Given the description of an element on the screen output the (x, y) to click on. 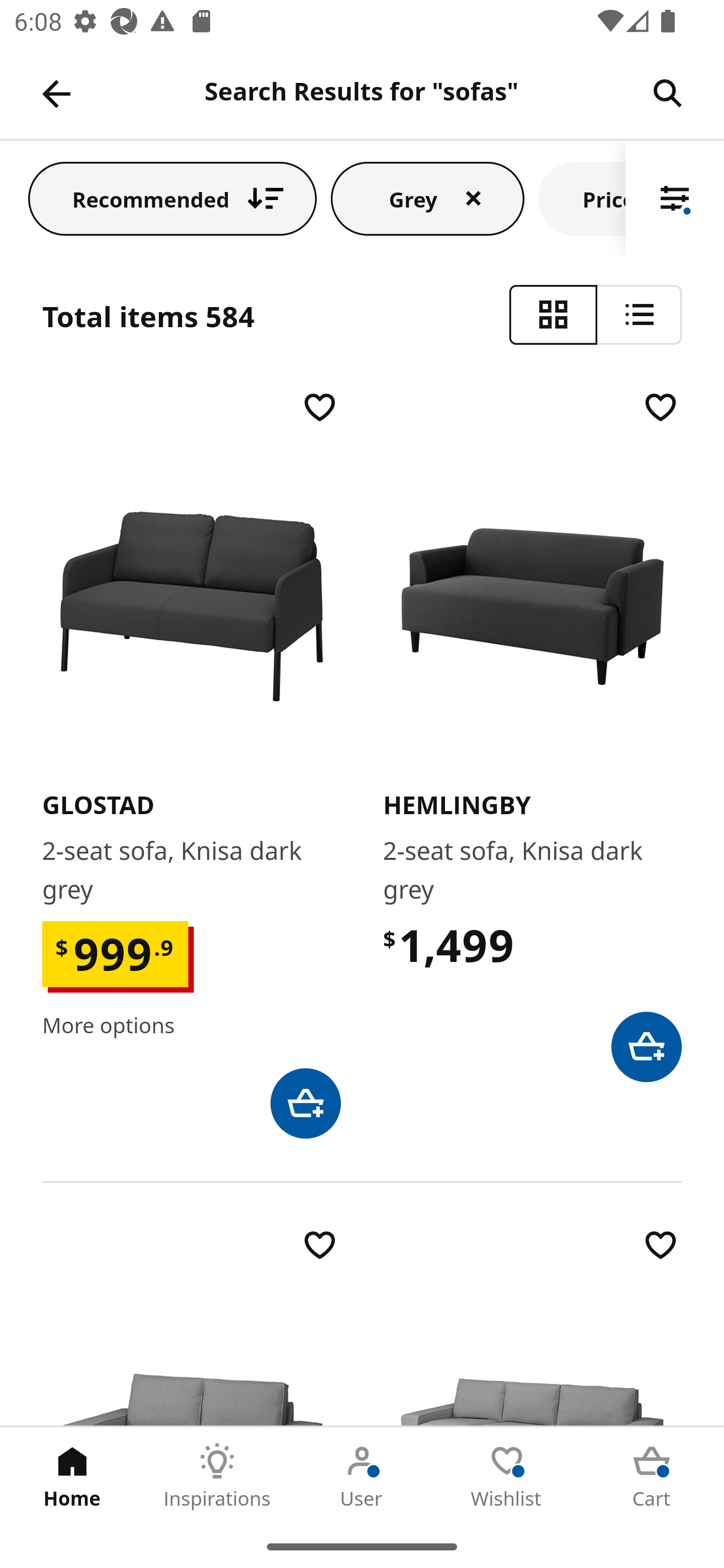
Recommended (172, 198)
Grey (427, 198)
Home
Tab 1 of 5 (72, 1476)
Inspirations
Tab 2 of 5 (216, 1476)
User
Tab 3 of 5 (361, 1476)
Wishlist
Tab 4 of 5 (506, 1476)
Cart
Tab 5 of 5 (651, 1476)
